Given the description of an element on the screen output the (x, y) to click on. 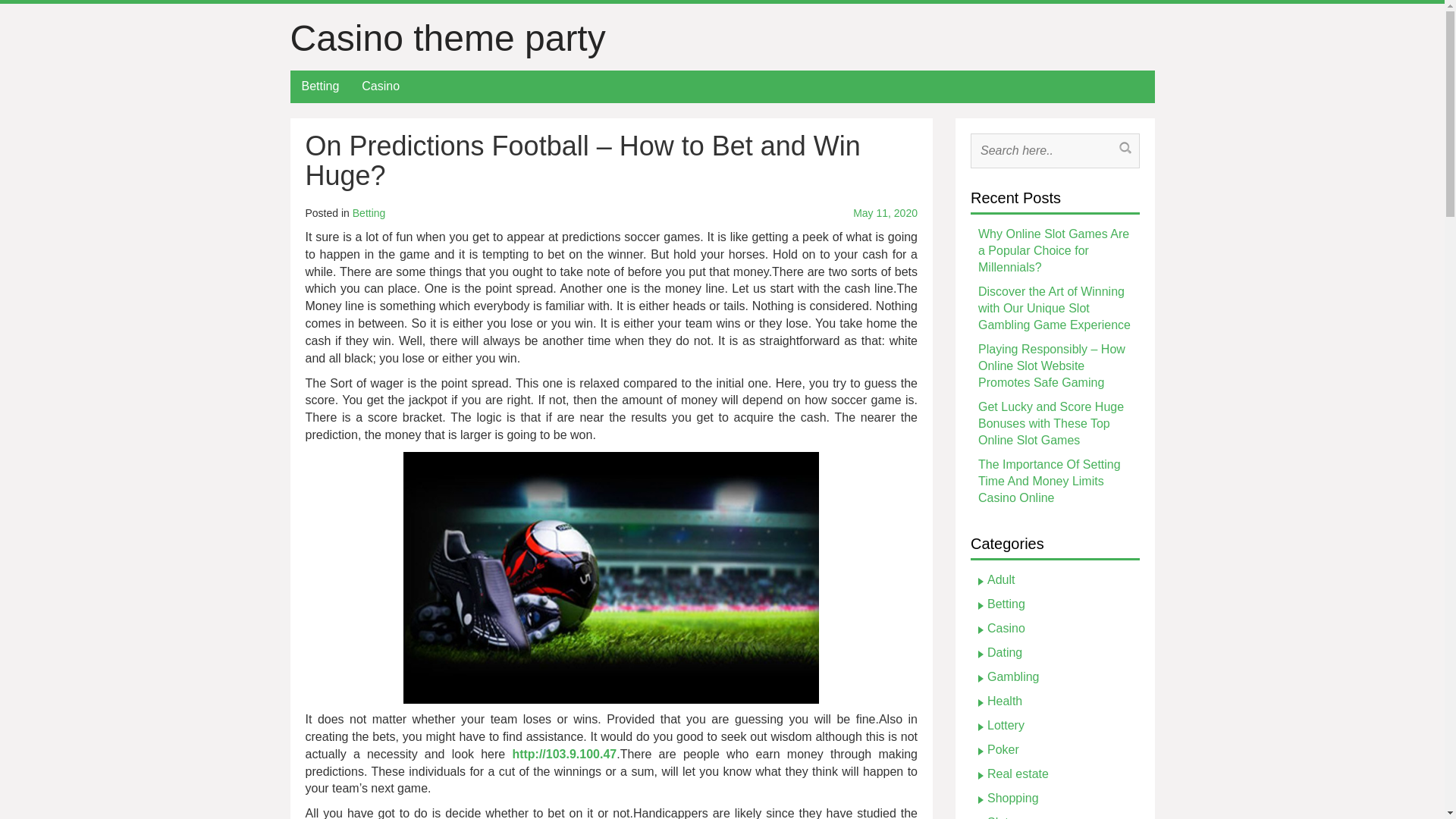
Real estate (1017, 773)
Casino (380, 86)
Why Online Slot Games Are a Popular Choice for Millennials? (1053, 250)
Dating (1004, 652)
Betting (319, 86)
Poker (1003, 748)
Adult (1000, 579)
May 11, 2020 (823, 213)
Shopping (1013, 797)
Casino theme party (447, 38)
Slot (998, 817)
Betting (368, 213)
Casino theme party (447, 38)
Health (1004, 700)
